Given the description of an element on the screen output the (x, y) to click on. 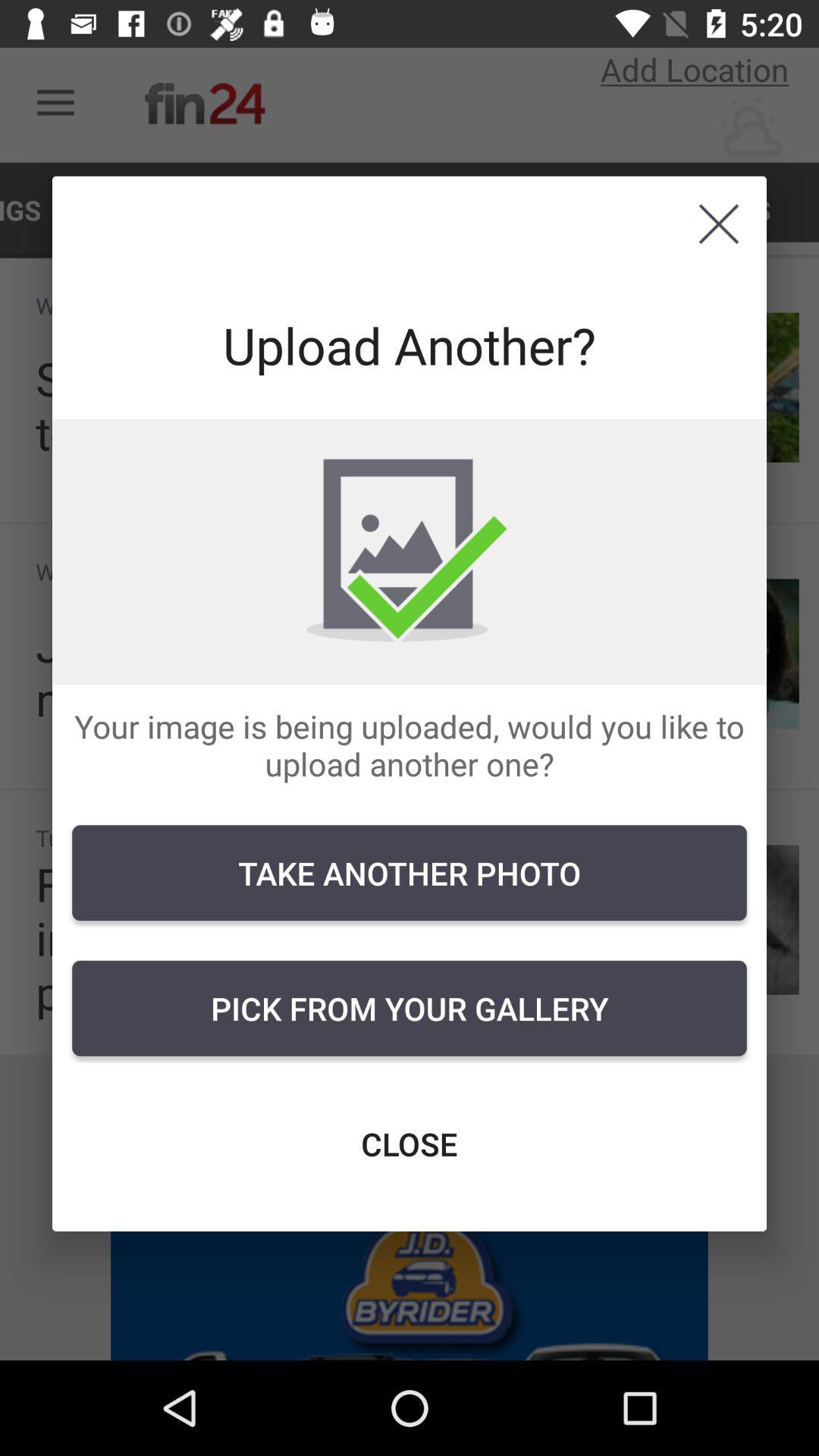
open the icon above the close item (409, 1008)
